Given the description of an element on the screen output the (x, y) to click on. 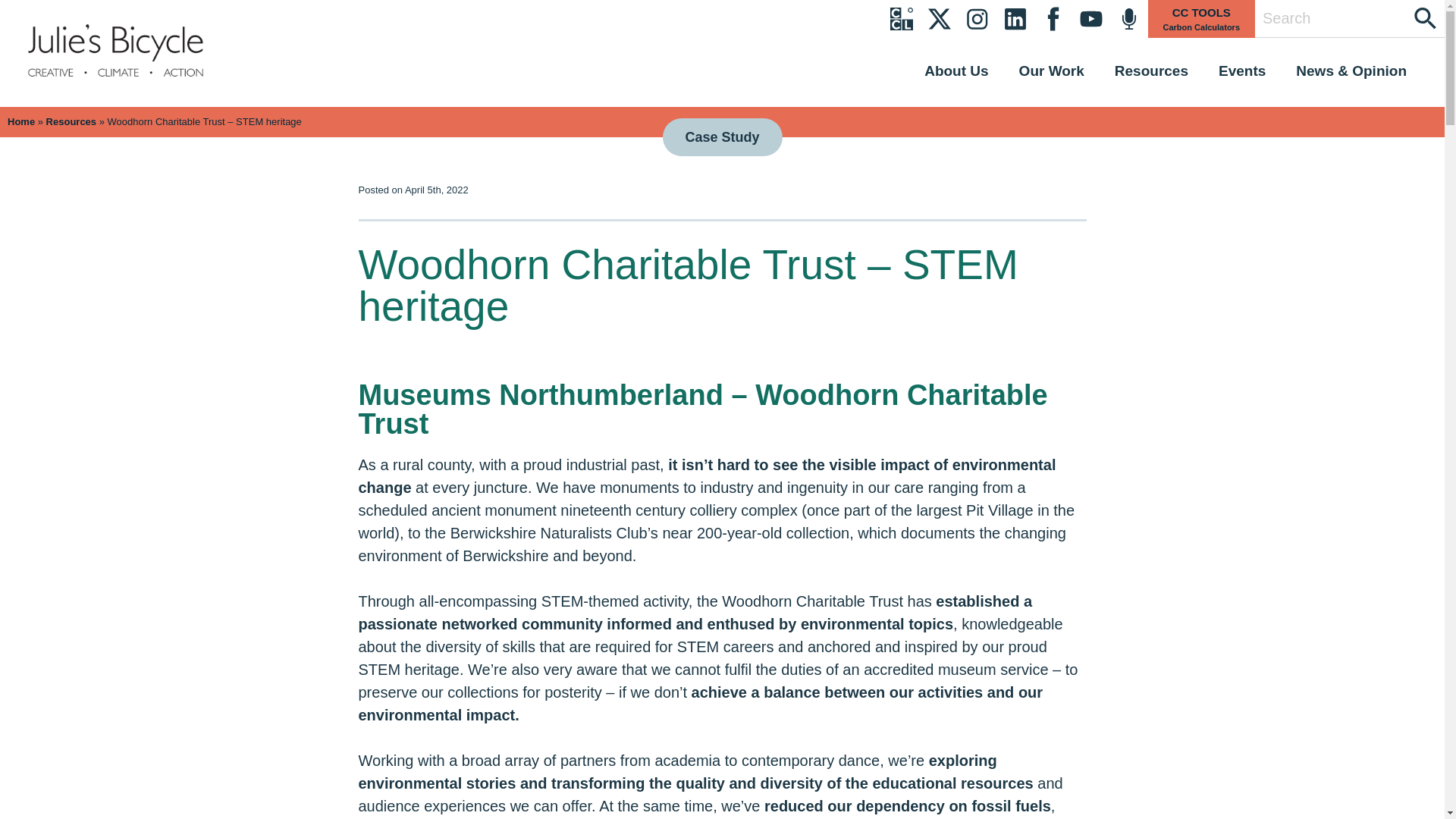
About Us (956, 69)
Our Work (1051, 69)
Creative Climate Leadership (901, 18)
Julie's Bicycle Youtube (1090, 18)
Julie's Bicycle Facebook (1052, 18)
Search (1330, 18)
Julie's Bicycle Instagram (976, 18)
Julie's Bicycle LinkedIn (1014, 18)
Resources (1151, 69)
